Given the description of an element on the screen output the (x, y) to click on. 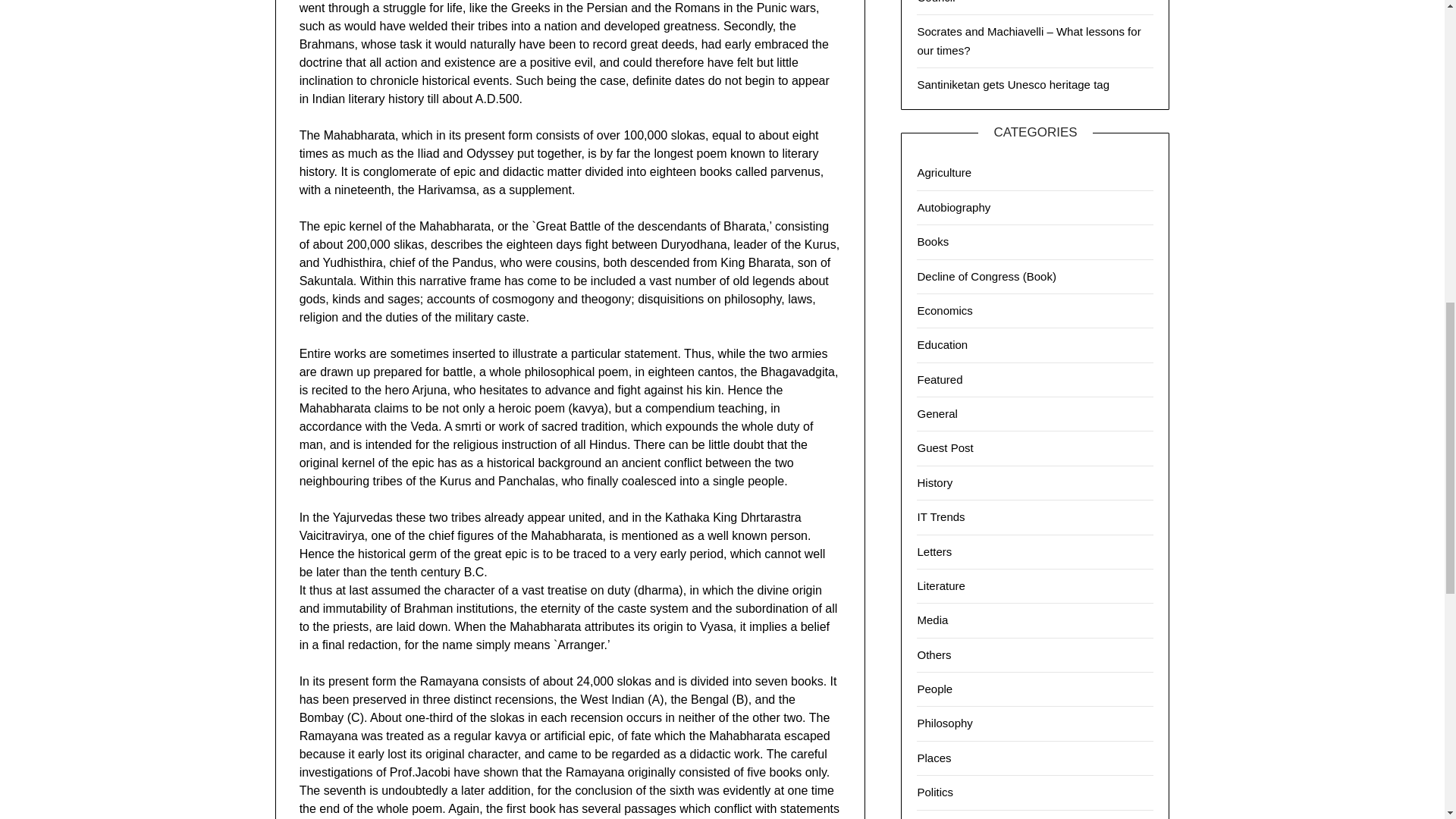
Agriculture (944, 172)
Featured (939, 379)
History (934, 481)
Books (933, 241)
Politics (935, 791)
Santiniketan gets Unesco heritage tag (1013, 83)
Literature (940, 585)
Autobiography (953, 206)
Education (942, 344)
IT Trends (940, 516)
Economics (944, 309)
General (936, 413)
How I won an election for Madras Legislative Council (1029, 2)
Media (932, 619)
Others (933, 654)
